Given the description of an element on the screen output the (x, y) to click on. 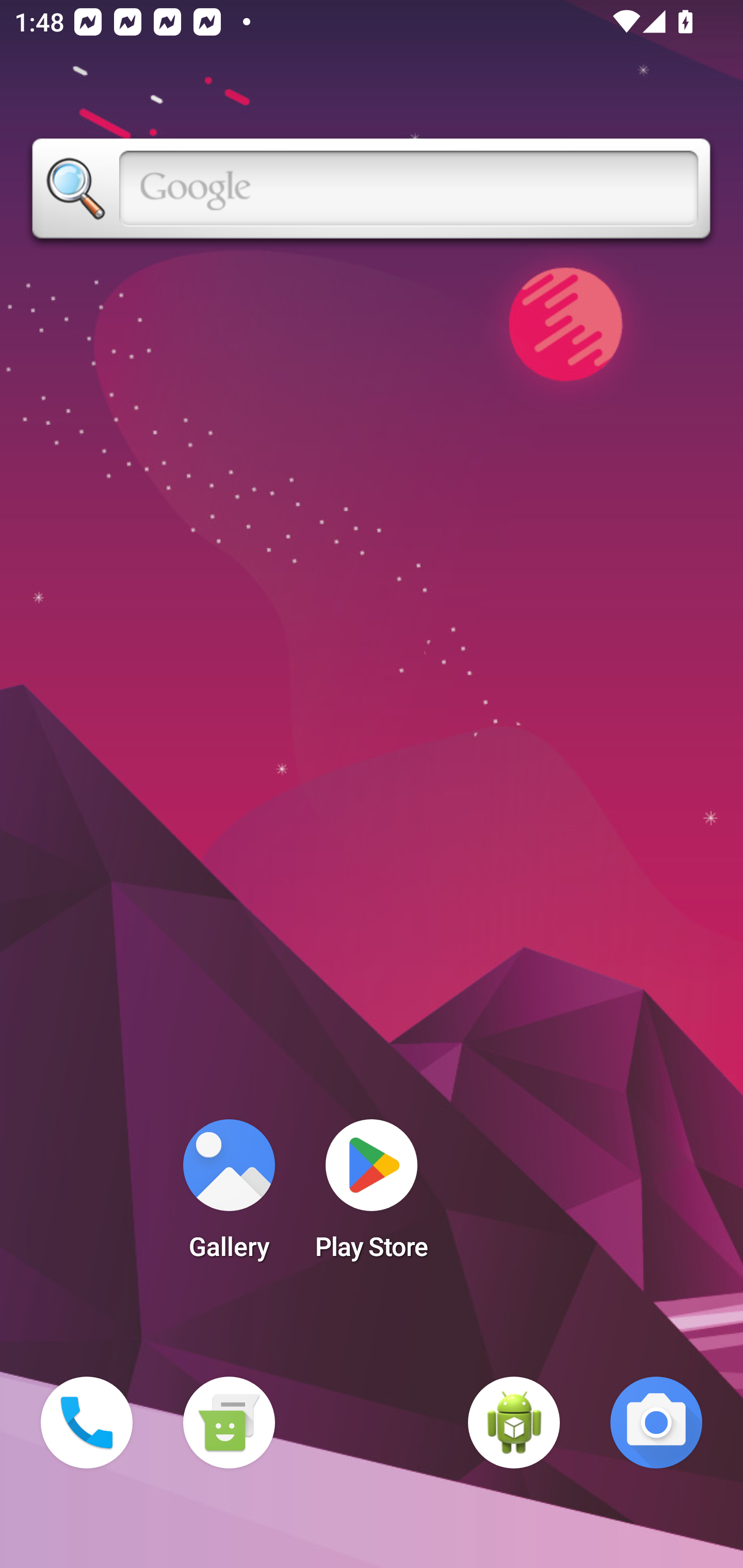
Gallery (228, 1195)
Play Store (371, 1195)
Phone (86, 1422)
Messaging (228, 1422)
WebView Browser Tester (513, 1422)
Camera (656, 1422)
